Given the description of an element on the screen output the (x, y) to click on. 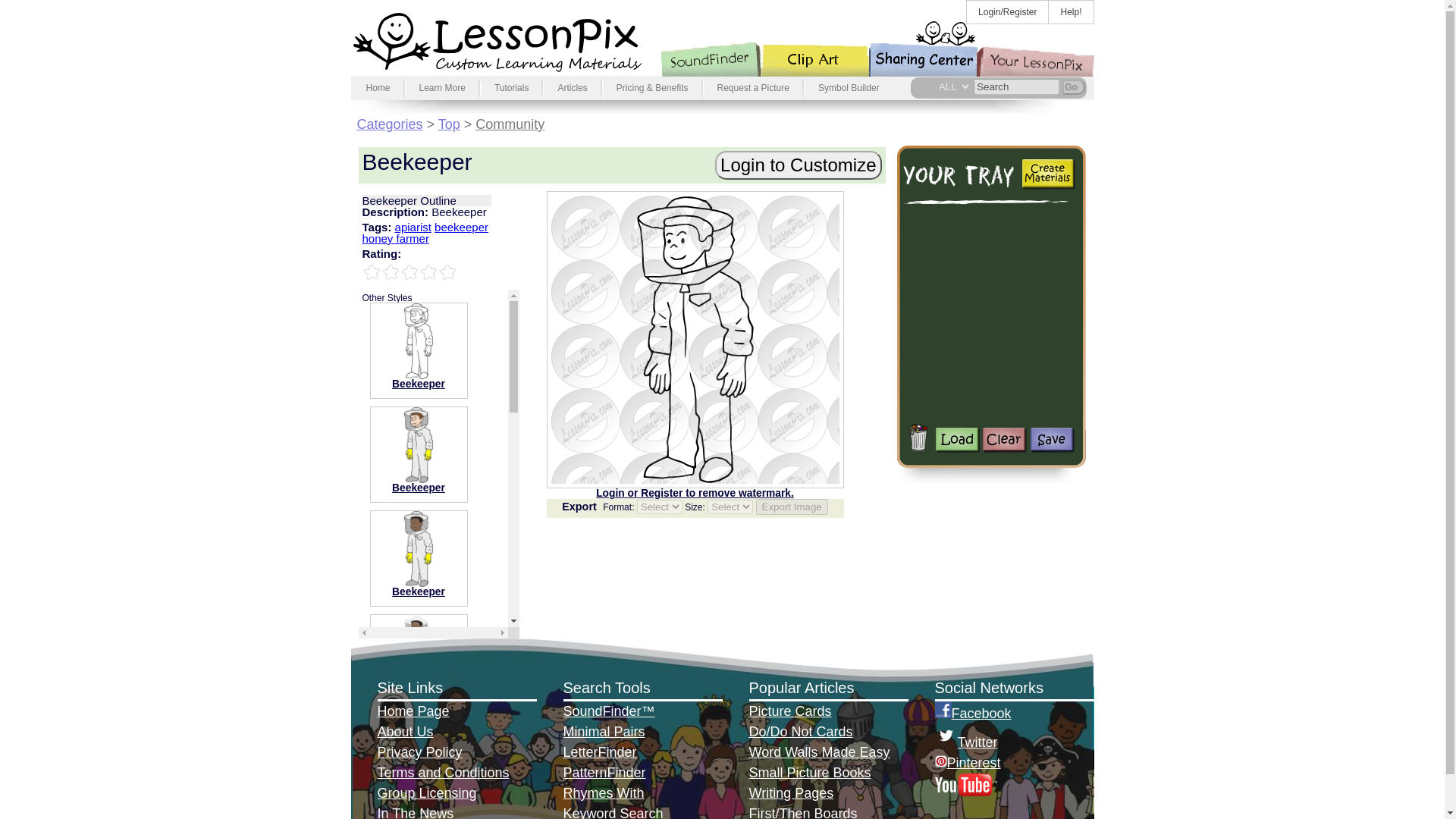
Beekeeper Picture (418, 591)
Categories (389, 124)
Top (449, 124)
Beekeeper Outline (418, 383)
Beekeeper (418, 383)
Community (510, 124)
Beekeeper (418, 341)
Help! (1070, 11)
4 stars out of 5 (400, 271)
Go (1072, 87)
Beekeeper (418, 445)
3 (390, 271)
Beekeeper (418, 487)
1 star out of 5 (371, 271)
Learn More (442, 87)
